Given the description of an element on the screen output the (x, y) to click on. 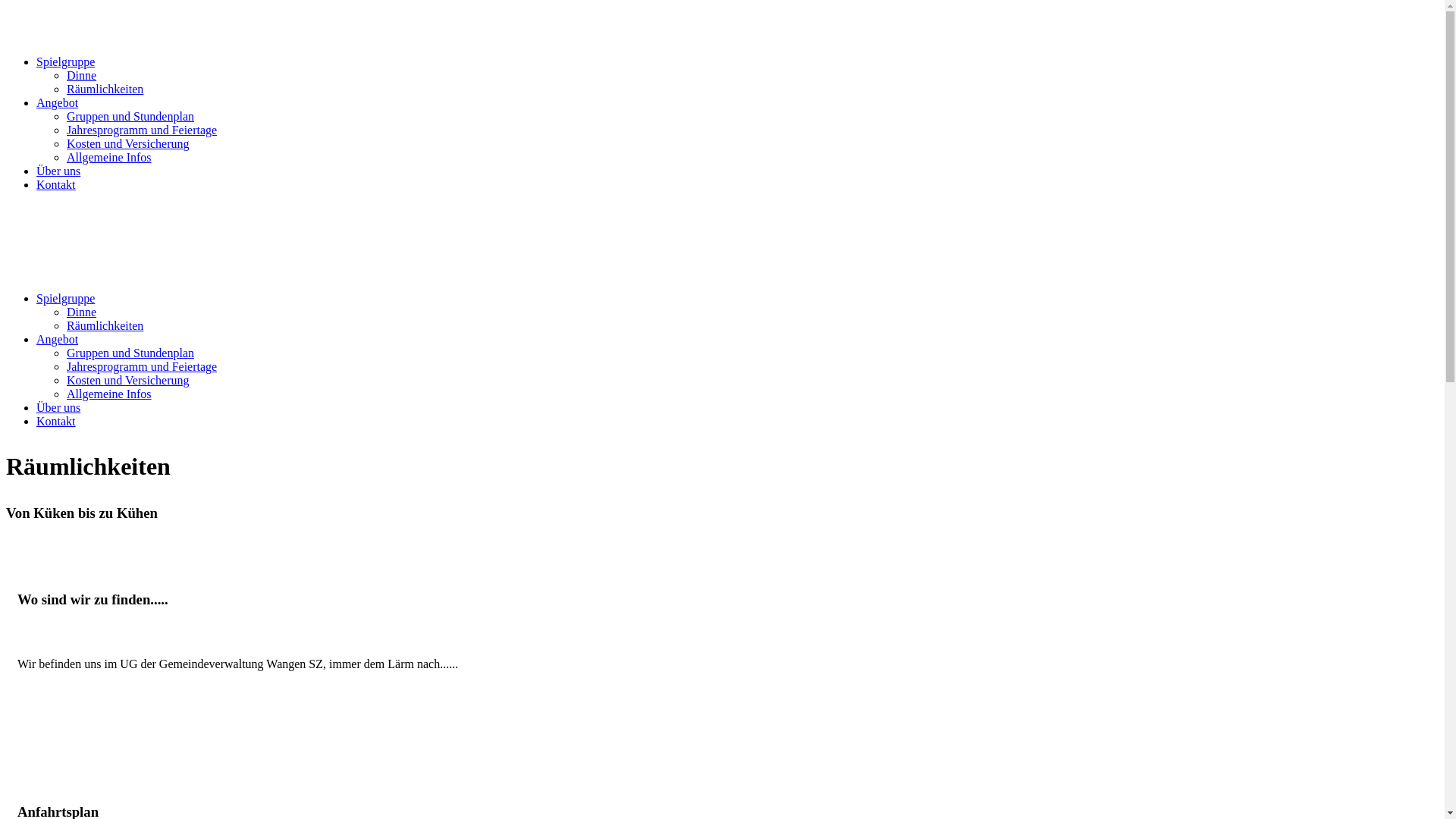
Kontakt Element type: text (55, 184)
Kosten und Versicherung Element type: text (127, 379)
Gruppen und Stundenplan Element type: text (130, 352)
Allgemeine Infos Element type: text (108, 156)
Gruppen und Stundenplan Element type: text (130, 115)
Jahresprogramm und Feiertage Element type: text (141, 129)
Kontakt Element type: text (55, 420)
Angebot Element type: text (57, 338)
Jahresprogramm und Feiertage Element type: text (141, 366)
Dinne Element type: text (81, 75)
Spielgruppe Element type: text (65, 297)
Kosten und Versicherung Element type: text (127, 143)
Dinne Element type: text (81, 311)
Angebot Element type: text (57, 102)
Allgemeine Infos Element type: text (108, 393)
Spielgruppe Element type: text (65, 61)
